Given the description of an element on the screen output the (x, y) to click on. 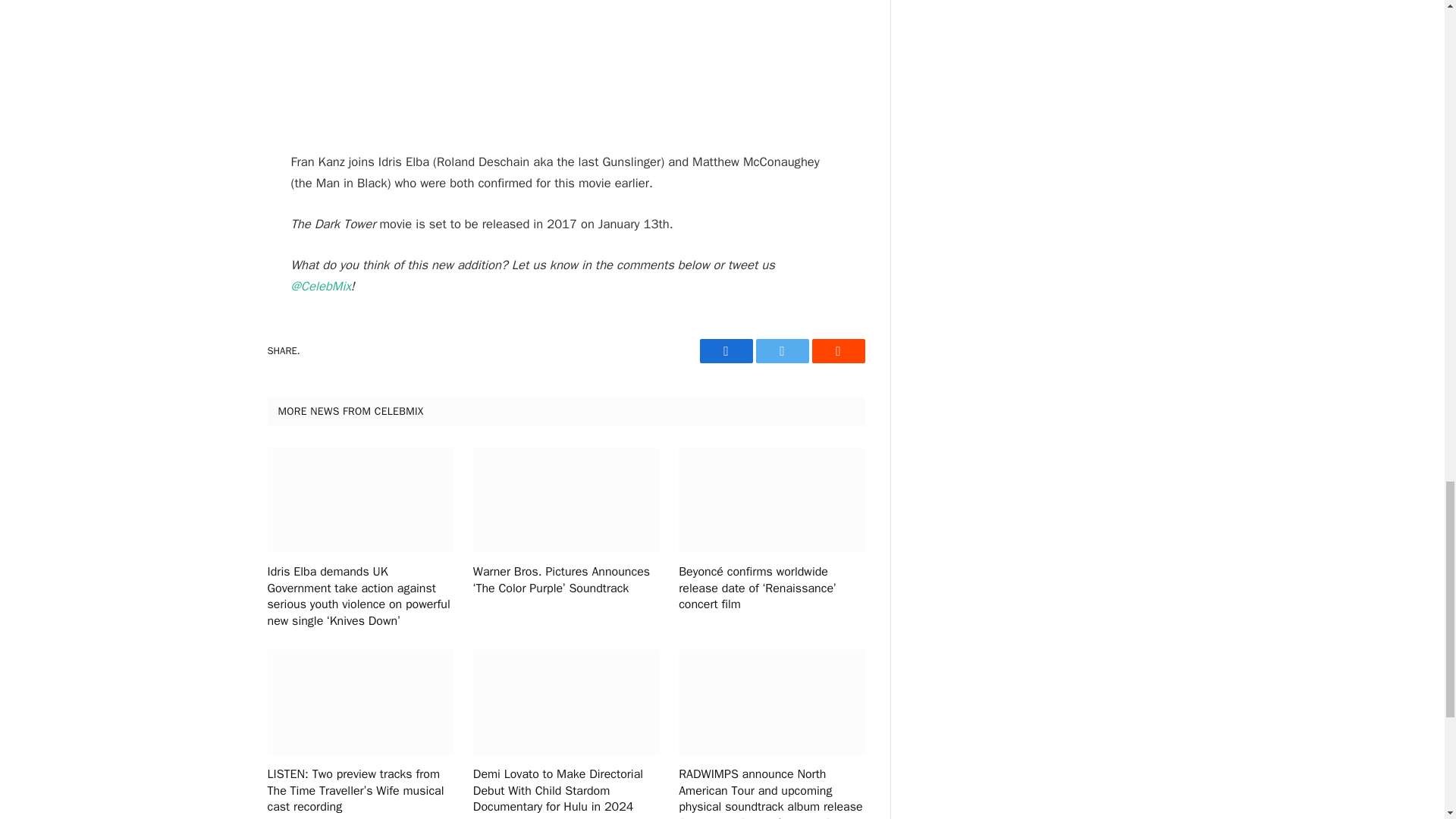
Share on Facebook (725, 351)
Reddit (837, 351)
Facebook (725, 351)
Twitter (781, 351)
